Given the description of an element on the screen output the (x, y) to click on. 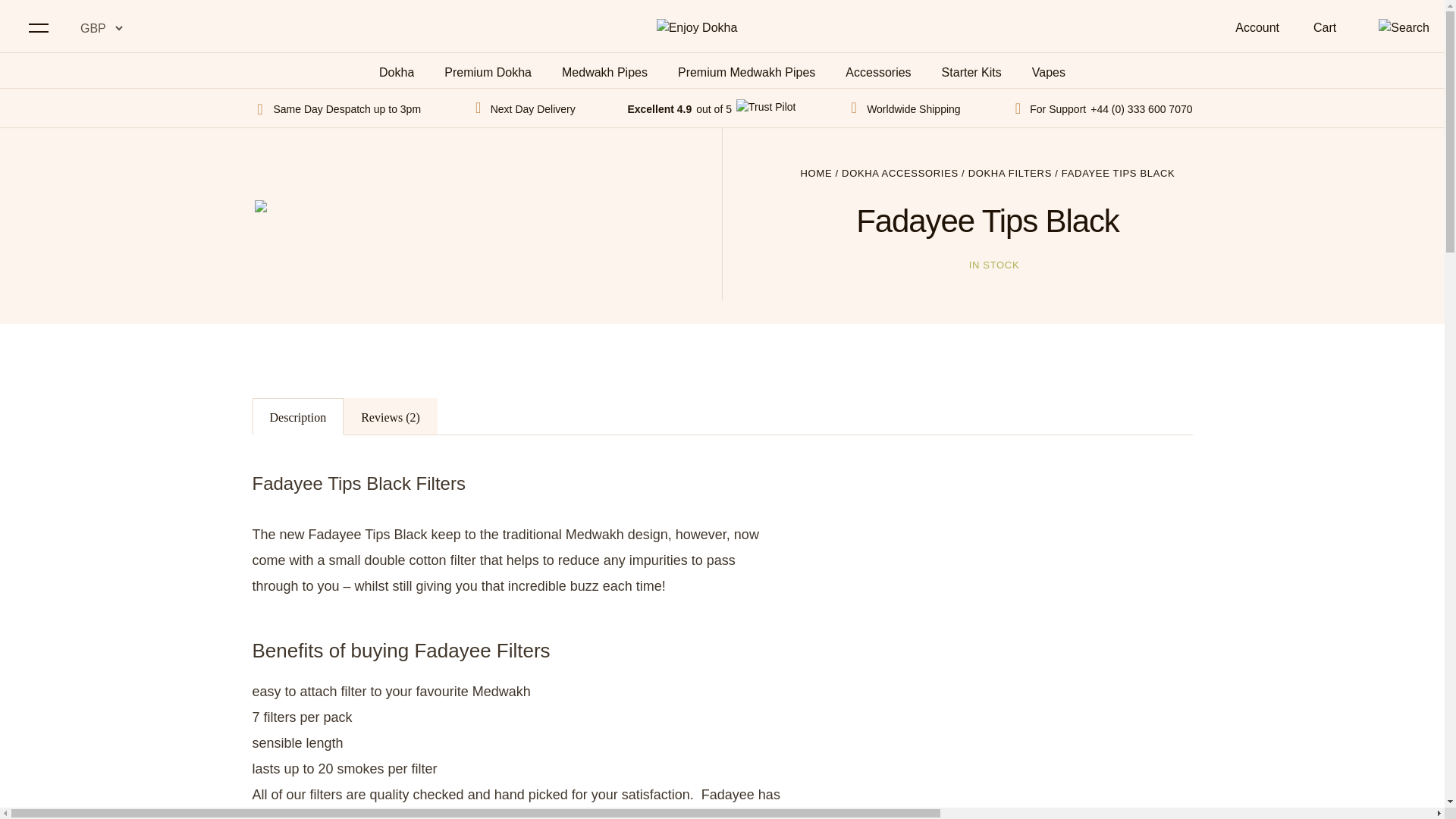
Premium Dokha (487, 71)
Dokha (395, 71)
Medwakh Pipes (604, 71)
Cart (1326, 27)
Account (1256, 27)
Premium Medwakh Pipes (746, 71)
